Given the description of an element on the screen output the (x, y) to click on. 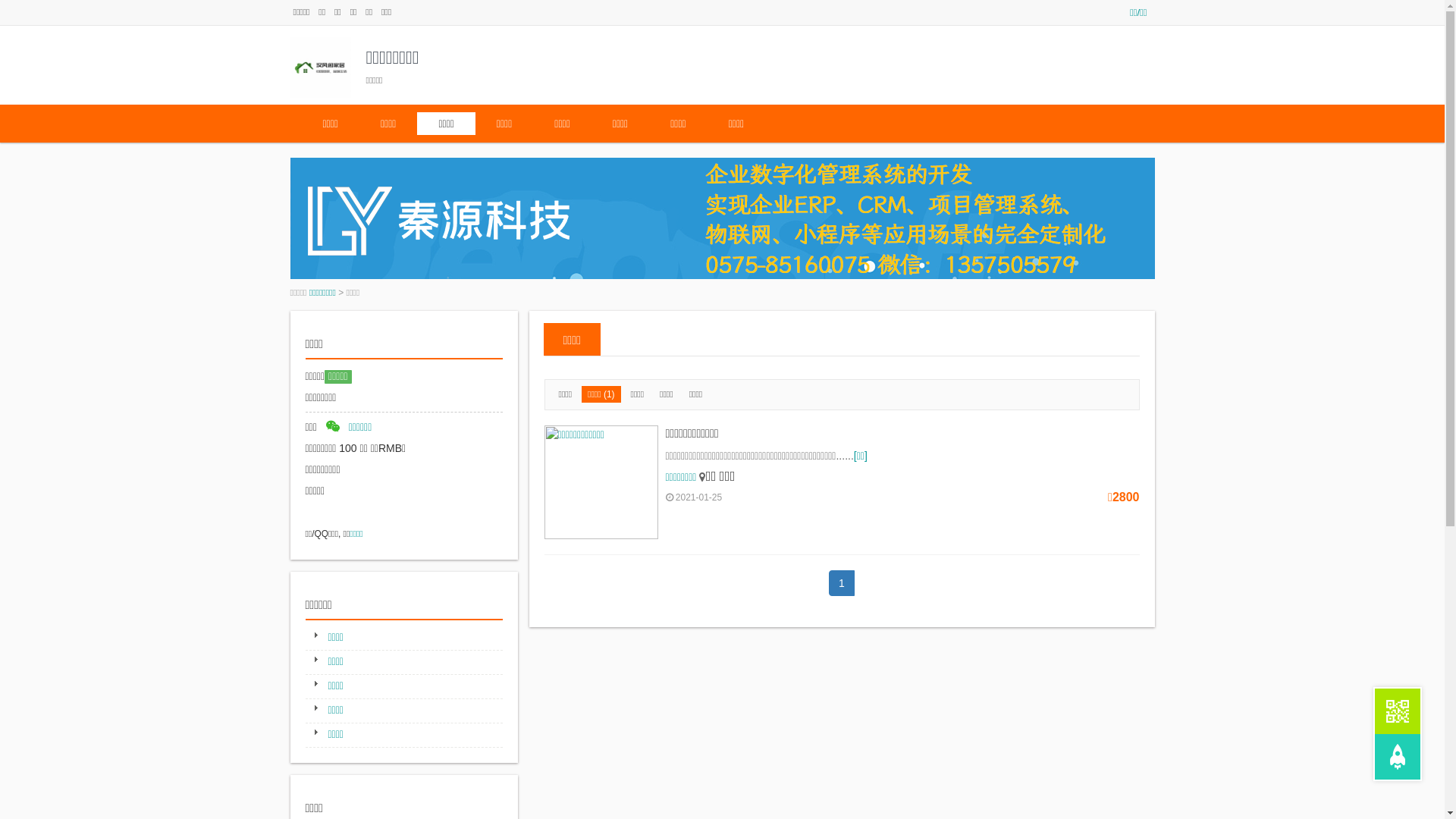
1 Element type: text (841, 583)
